Given the description of an element on the screen output the (x, y) to click on. 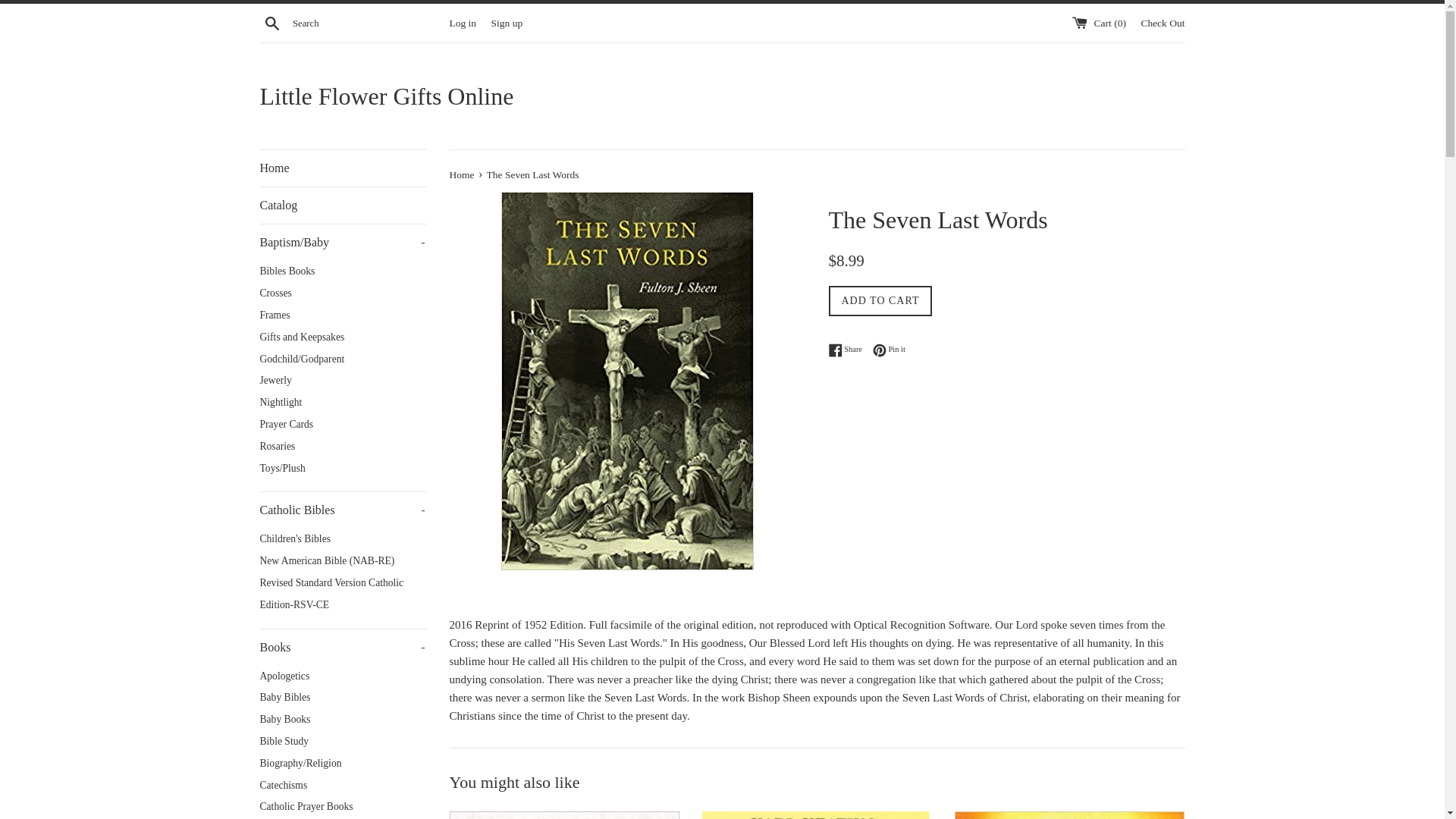
Children's Bibles (342, 539)
Radio Replies (1070, 815)
Baby Books (342, 720)
Nightlight (342, 403)
Baby Bibles (342, 698)
Rosaries (342, 446)
Share on Facebook (342, 510)
Catholic Theology (848, 350)
Crosses (342, 676)
Gifts and Keepsakes (342, 293)
Bibles Books (342, 337)
Check Out (342, 271)
Catholic Prayer Books (1162, 21)
